Given the description of an element on the screen output the (x, y) to click on. 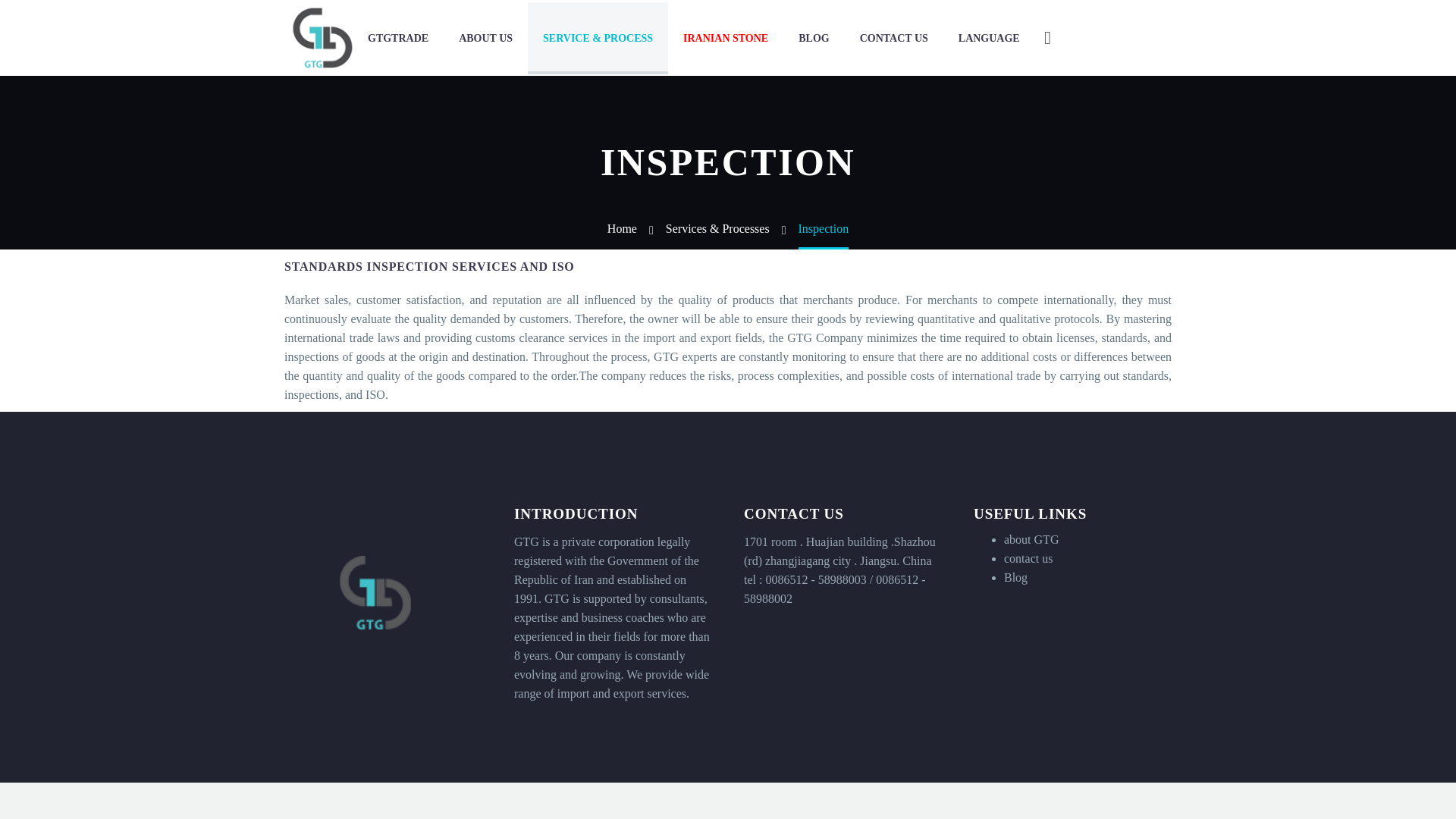
GTGTRADE (398, 37)
about GTG (1031, 539)
CONTACT US (893, 37)
Blog (1015, 576)
IRANIAN STONE (725, 37)
Home (622, 228)
LANGUAGE (989, 37)
ABOUT US (485, 37)
contact us (1028, 558)
